Given the description of an element on the screen output the (x, y) to click on. 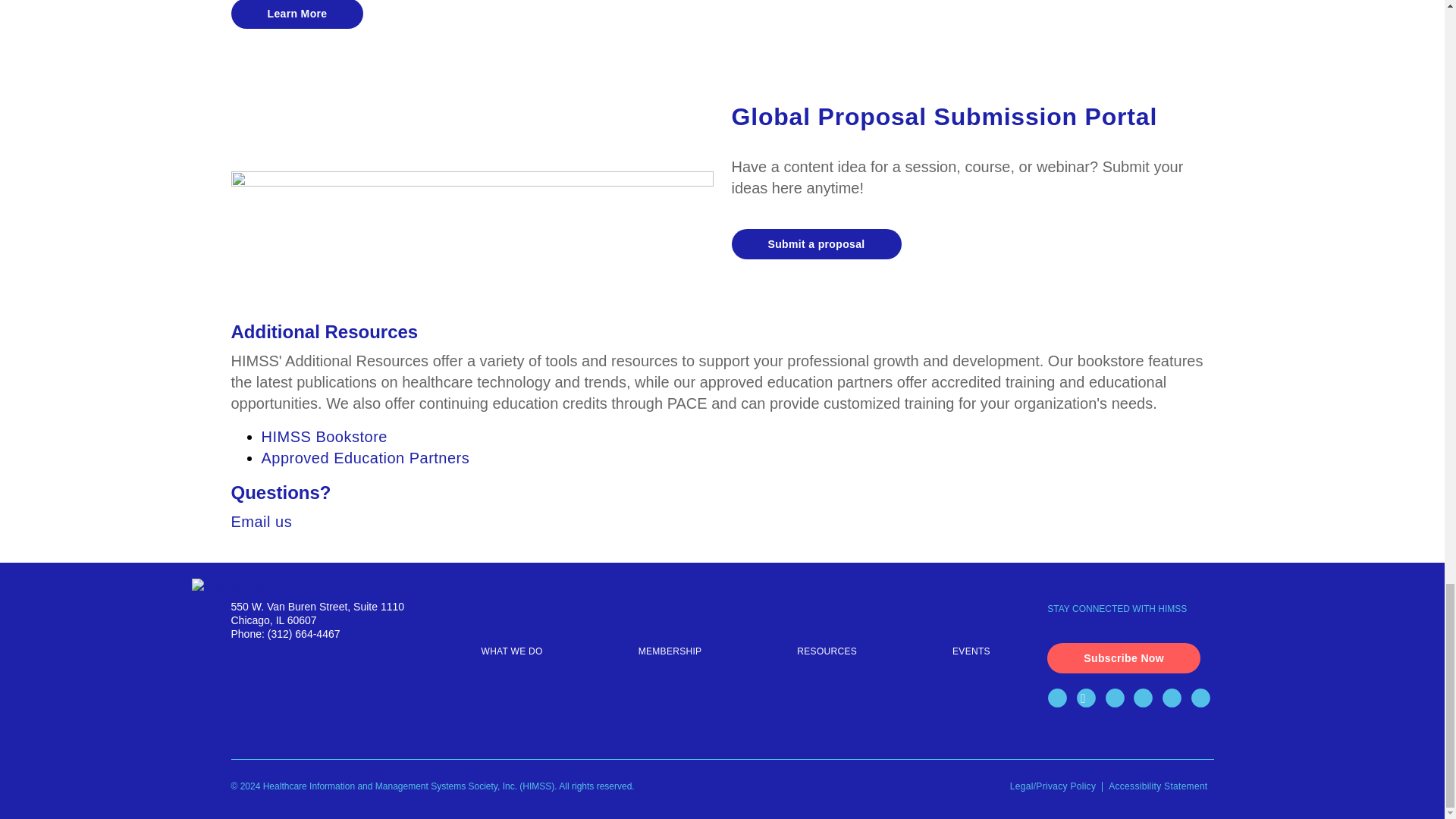
Follow HIMSS on Twitter (1089, 701)
Subscribe to HIMSS on YouTube (1146, 701)
Login to Accelerate HIMSS Solution (1203, 701)
Follow HIMSS on Facebook (1060, 701)
Subscribe to HIMSS on Instagram (1174, 701)
Himss.org (327, 586)
Connect with HIMSS on LinkedIn (1118, 701)
